Given the description of an element on the screen output the (x, y) to click on. 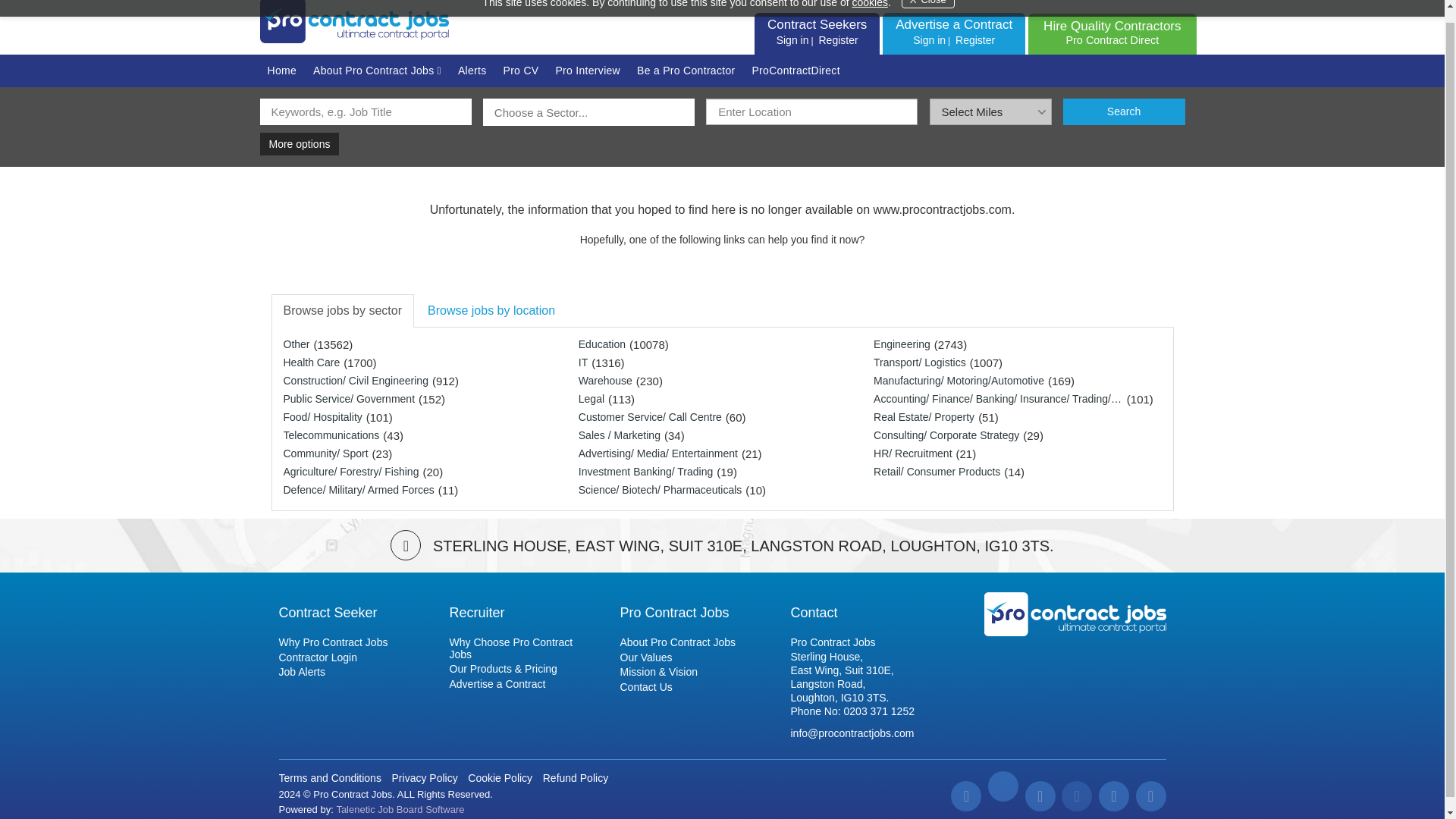
Search (1123, 111)
Search (1123, 111)
About Pro Contract Jobs (376, 70)
Sign in (1111, 32)
Alerts (929, 39)
Home (472, 70)
Close (281, 70)
Pro Contract Jobs (928, 4)
Register (1075, 614)
Talenetic (837, 39)
cookies (400, 808)
Contract Seekers (868, 4)
Be a Pro Contractor (816, 24)
Advertise a Contract (685, 70)
